Given the description of an element on the screen output the (x, y) to click on. 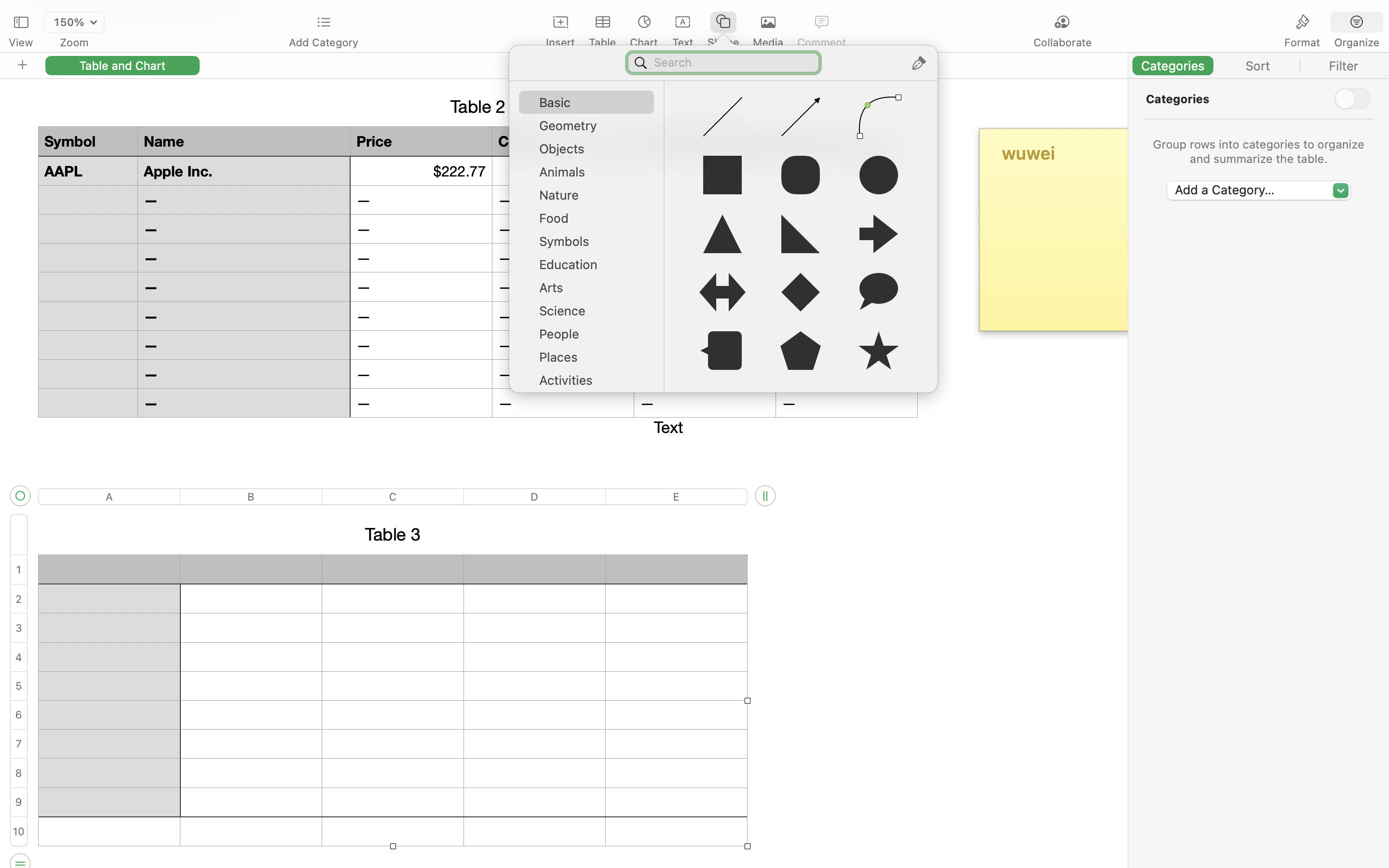
Symbols Element type: AXStaticText (591, 244)
Arts Element type: AXStaticText (591, 290)
Animals Element type: AXStaticText (591, 175)
Organize Element type: AXStaticText (1356, 42)
Objects Element type: AXStaticText (591, 151)
